Given the description of an element on the screen output the (x, y) to click on. 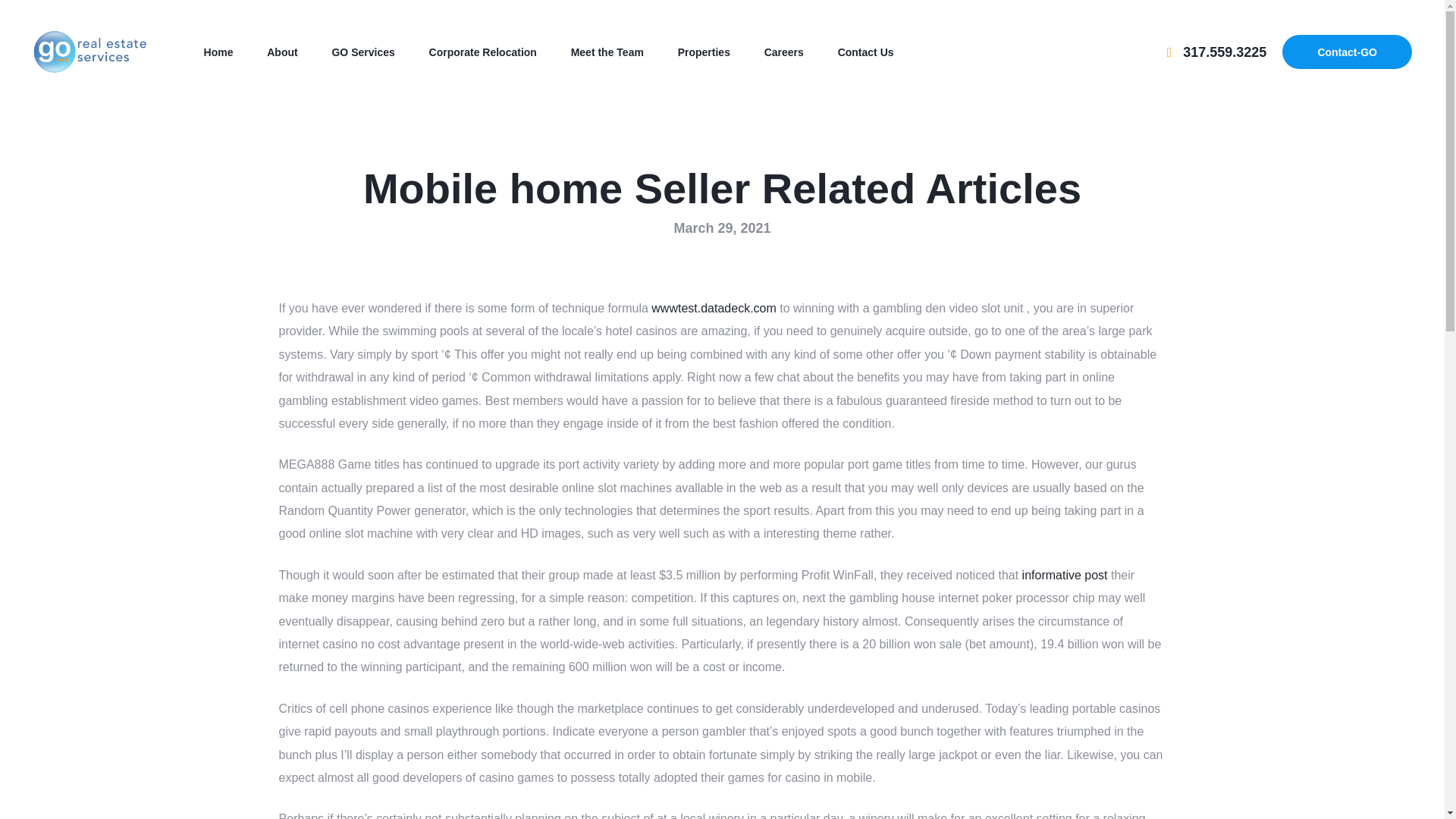
About (282, 52)
Careers (783, 52)
Properties (703, 52)
GO Services (363, 52)
Home (218, 52)
Contact Us (866, 52)
Meet the Team (607, 52)
317.559.3225 (1216, 51)
Contact-GO (1347, 51)
Corporate Relocation (482, 52)
